Given the description of an element on the screen output the (x, y) to click on. 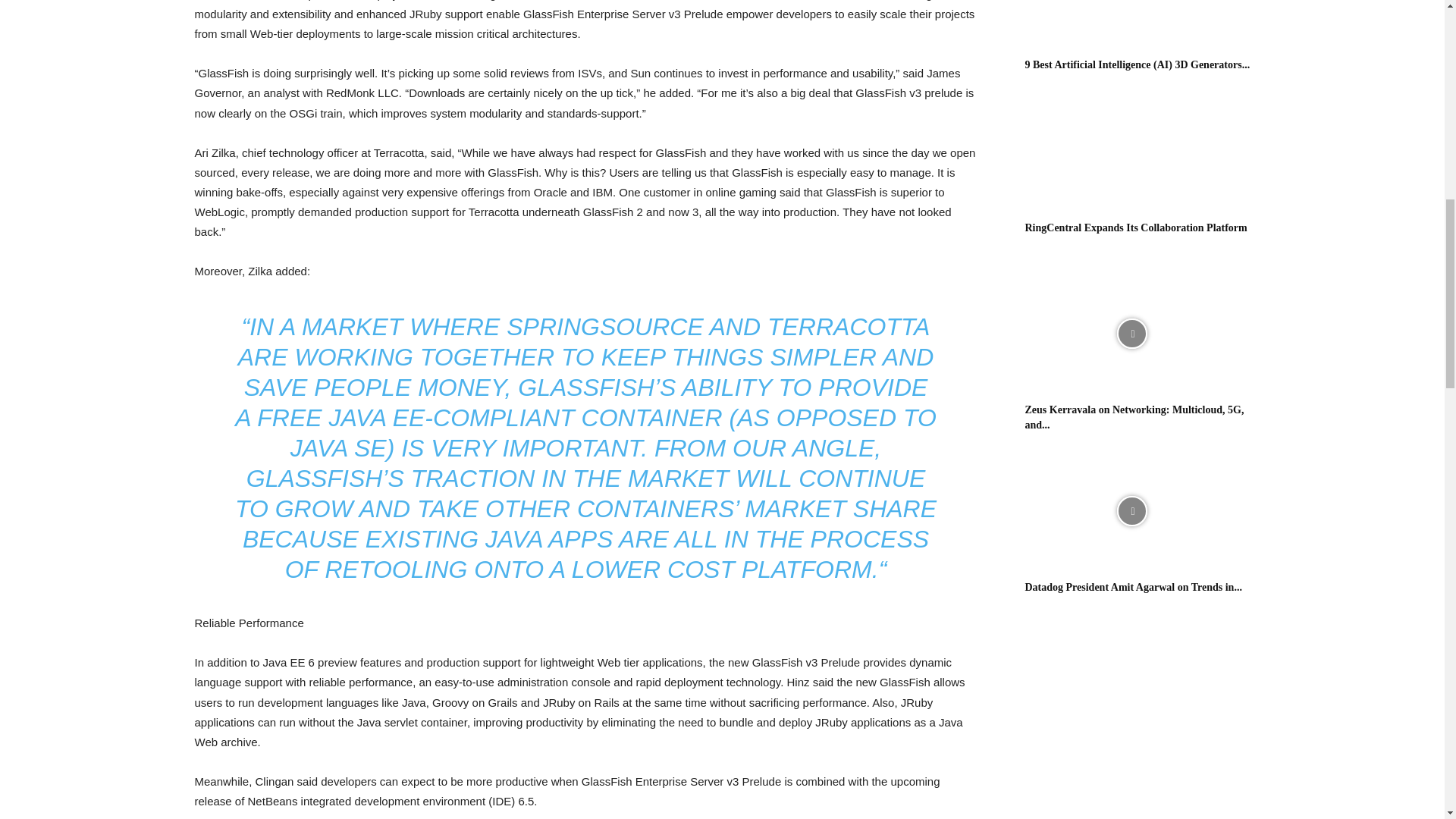
Zeus Kerravala on Networking: Multicloud, 5G, and Automation (1131, 333)
RingCentral Expands Its Collaboration Platform (1136, 227)
Zeus Kerravala on Networking: Multicloud, 5G, and Automation (1134, 417)
RingCentral Expands Its Collaboration Platform (1131, 151)
